Given the description of an element on the screen output the (x, y) to click on. 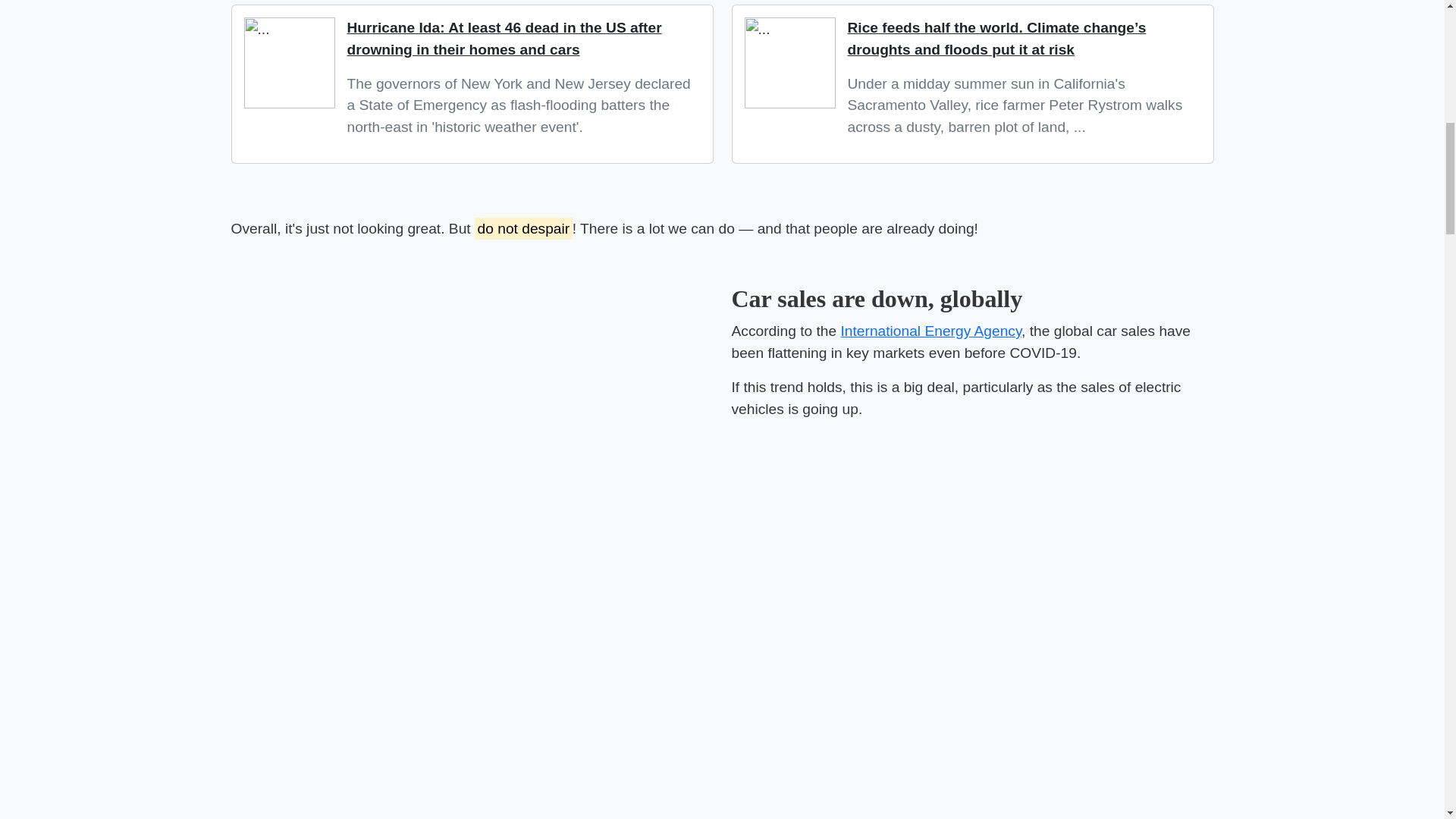
... (789, 62)
... (289, 62)
International Energy Agency (931, 330)
